Given the description of an element on the screen output the (x, y) to click on. 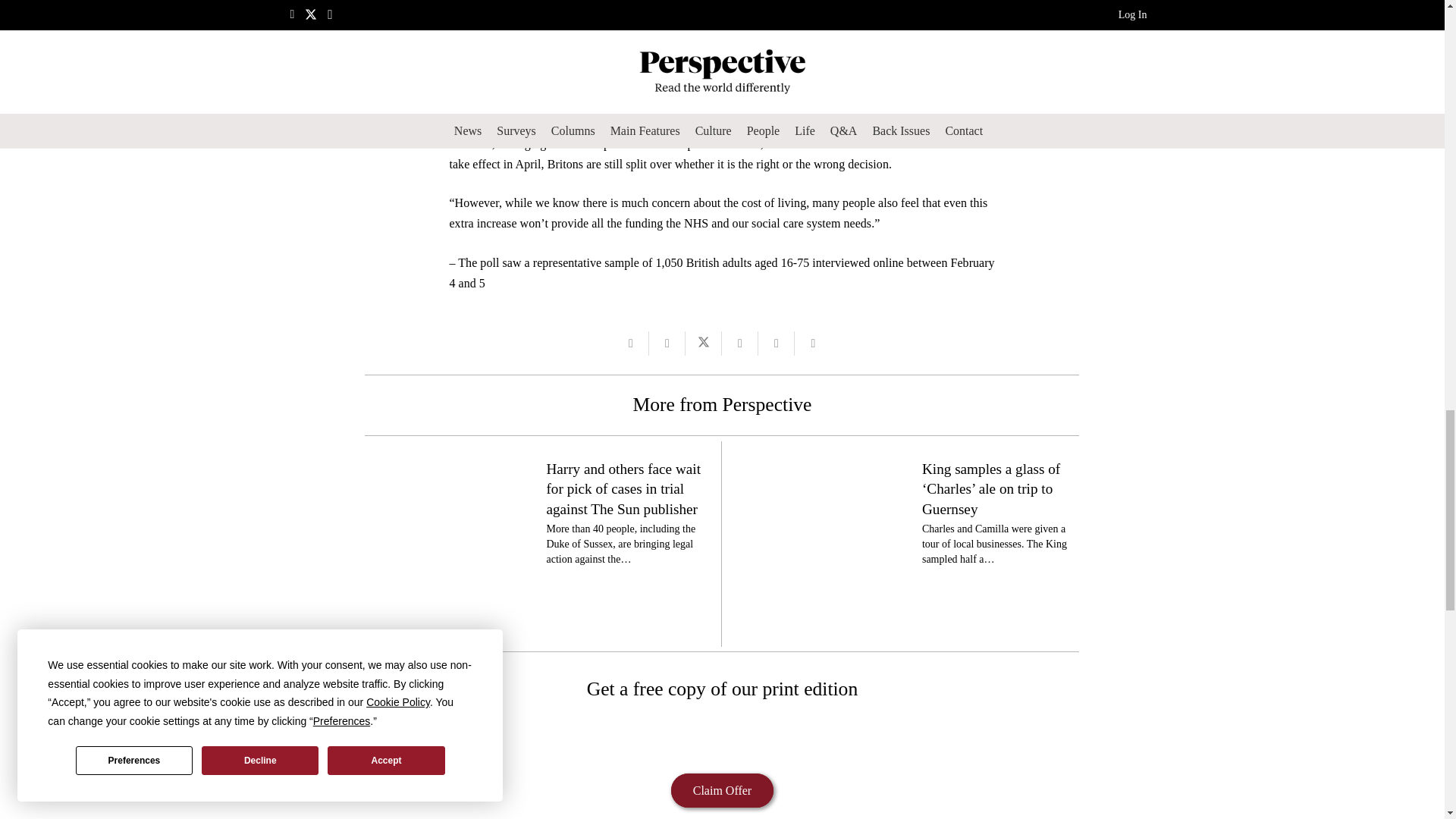
Share this (812, 343)
Tweet this (703, 343)
Claim Offer (722, 790)
Share this (740, 343)
Share this (667, 343)
Share this (776, 343)
Email this (630, 343)
